Given the description of an element on the screen output the (x, y) to click on. 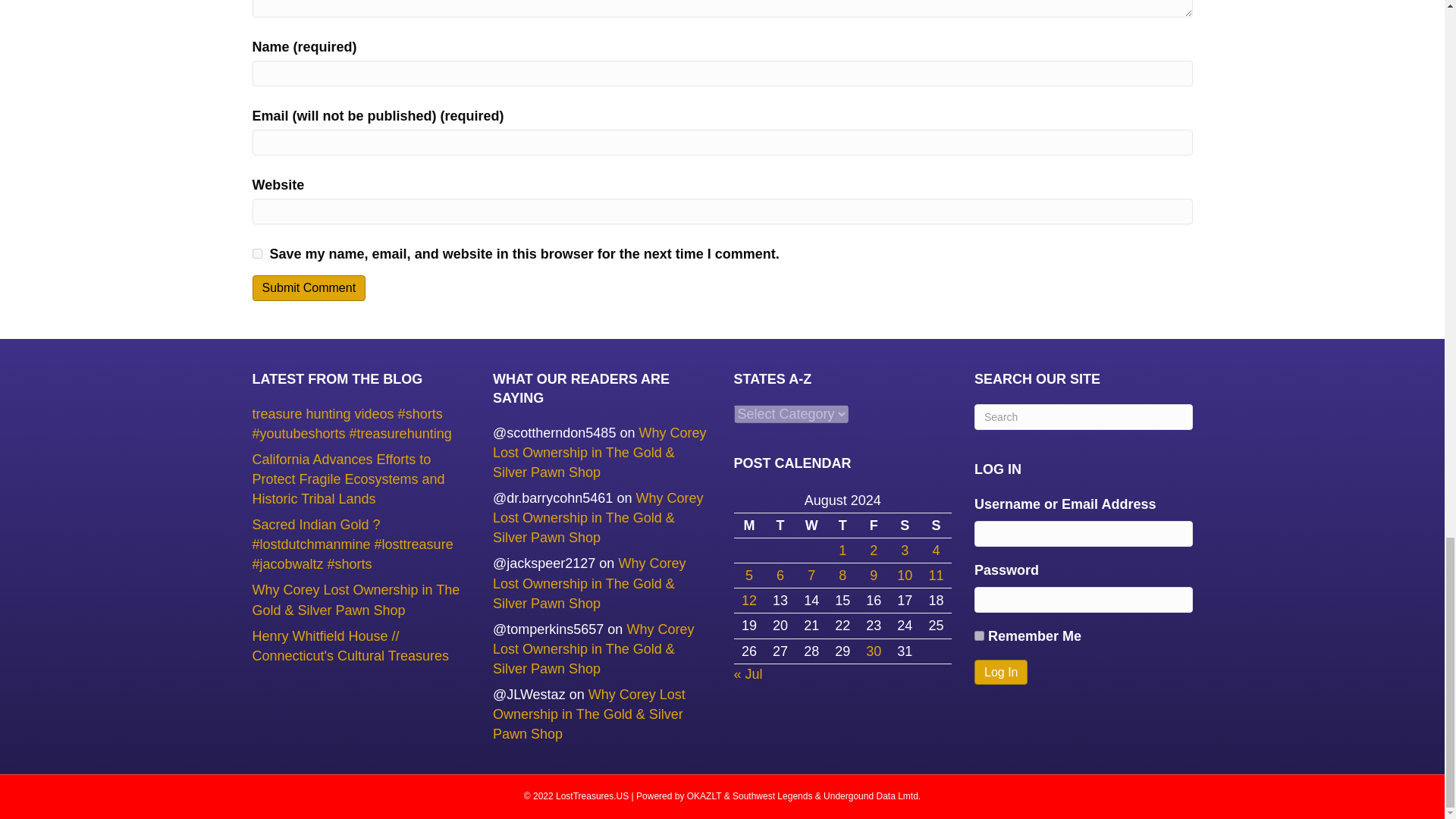
Monday (749, 525)
Submit Comment (308, 287)
forever (979, 635)
yes (256, 253)
Tuesday (780, 525)
